Given the description of an element on the screen output the (x, y) to click on. 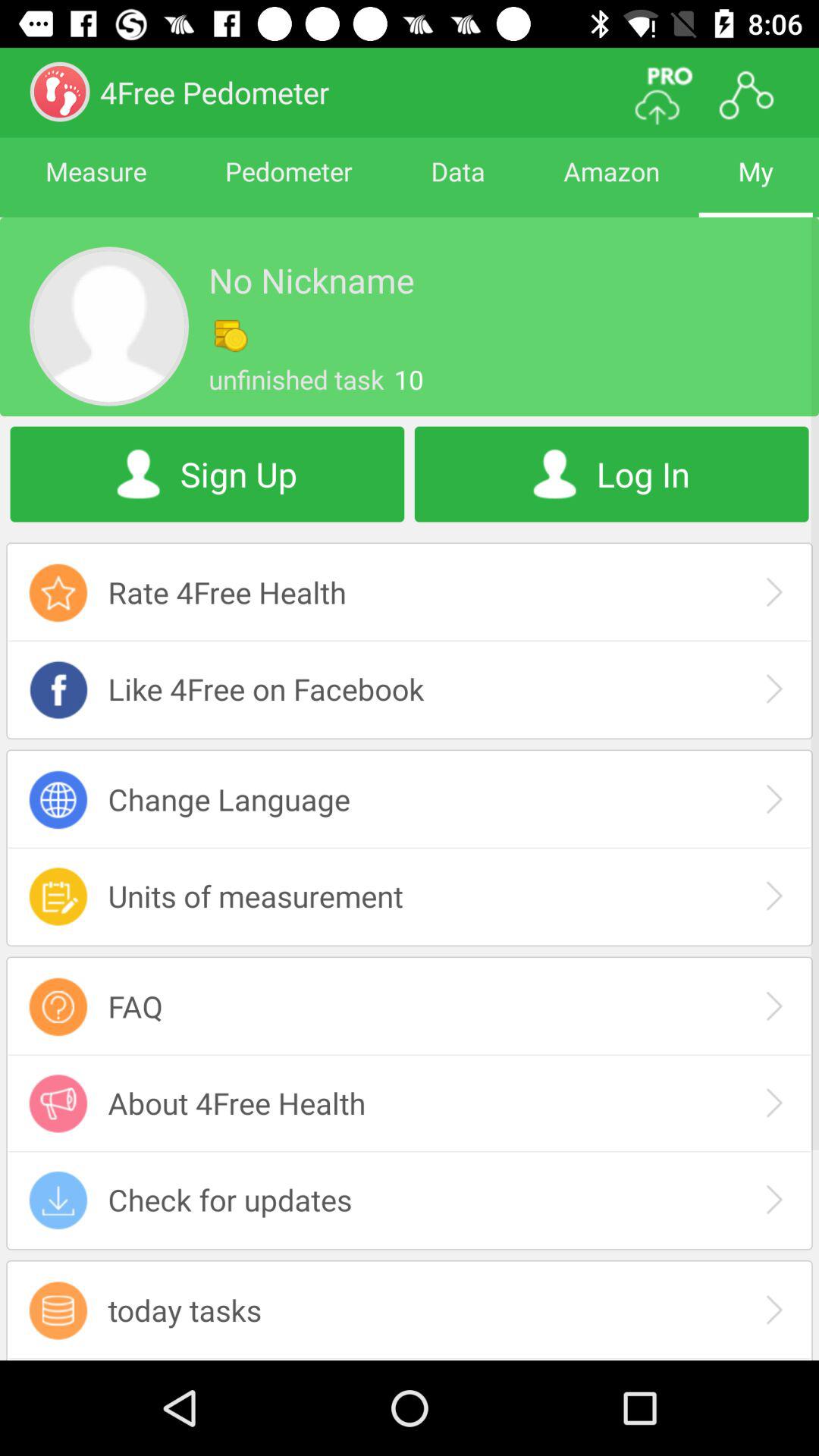
click the app next to pedometer item (95, 185)
